Given the description of an element on the screen output the (x, y) to click on. 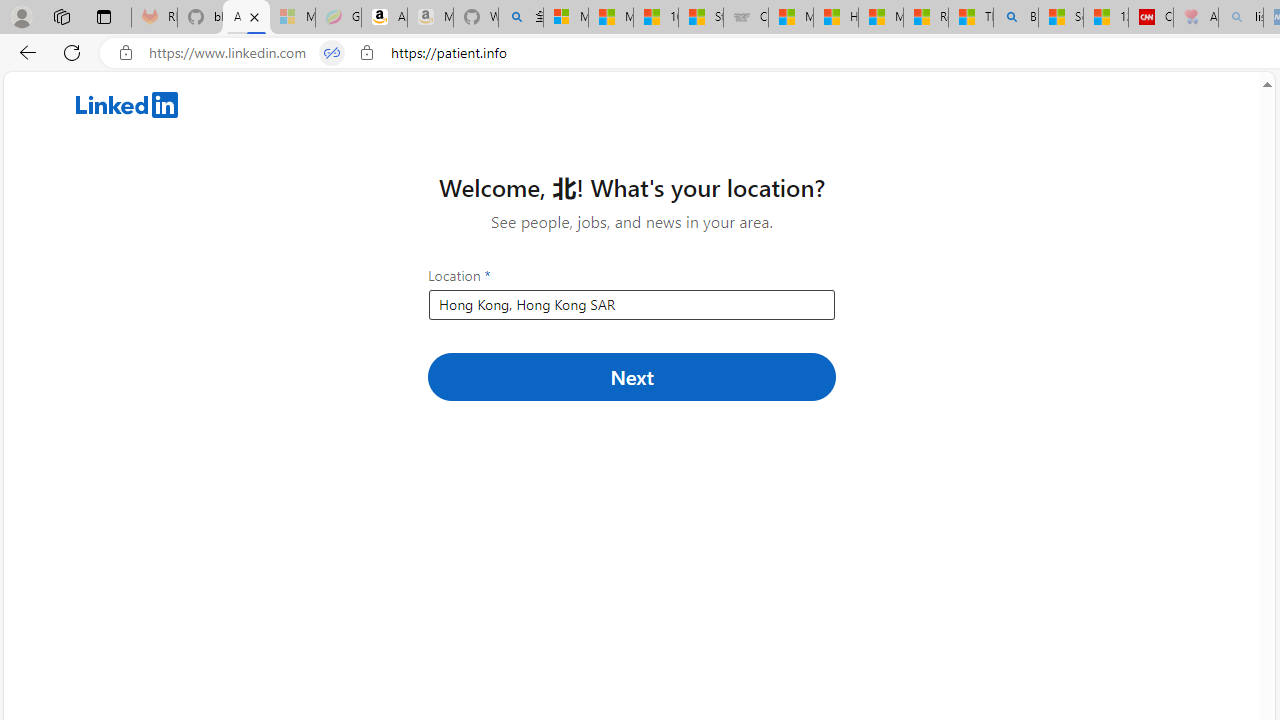
list of asthma inhalers uk - Search - Sleeping (1240, 17)
Workspaces (61, 16)
Bing (1016, 17)
How I Got Rid of Microsoft Edge's Unnecessary Features (835, 17)
Science - MSN (1060, 17)
Microsoft account | Privacy (565, 17)
Stocks - MSN (700, 17)
Microsoft-Report a Concern to Bing - Sleeping (292, 17)
Back (24, 52)
Tabs in split screen (331, 53)
